Given the description of an element on the screen output the (x, y) to click on. 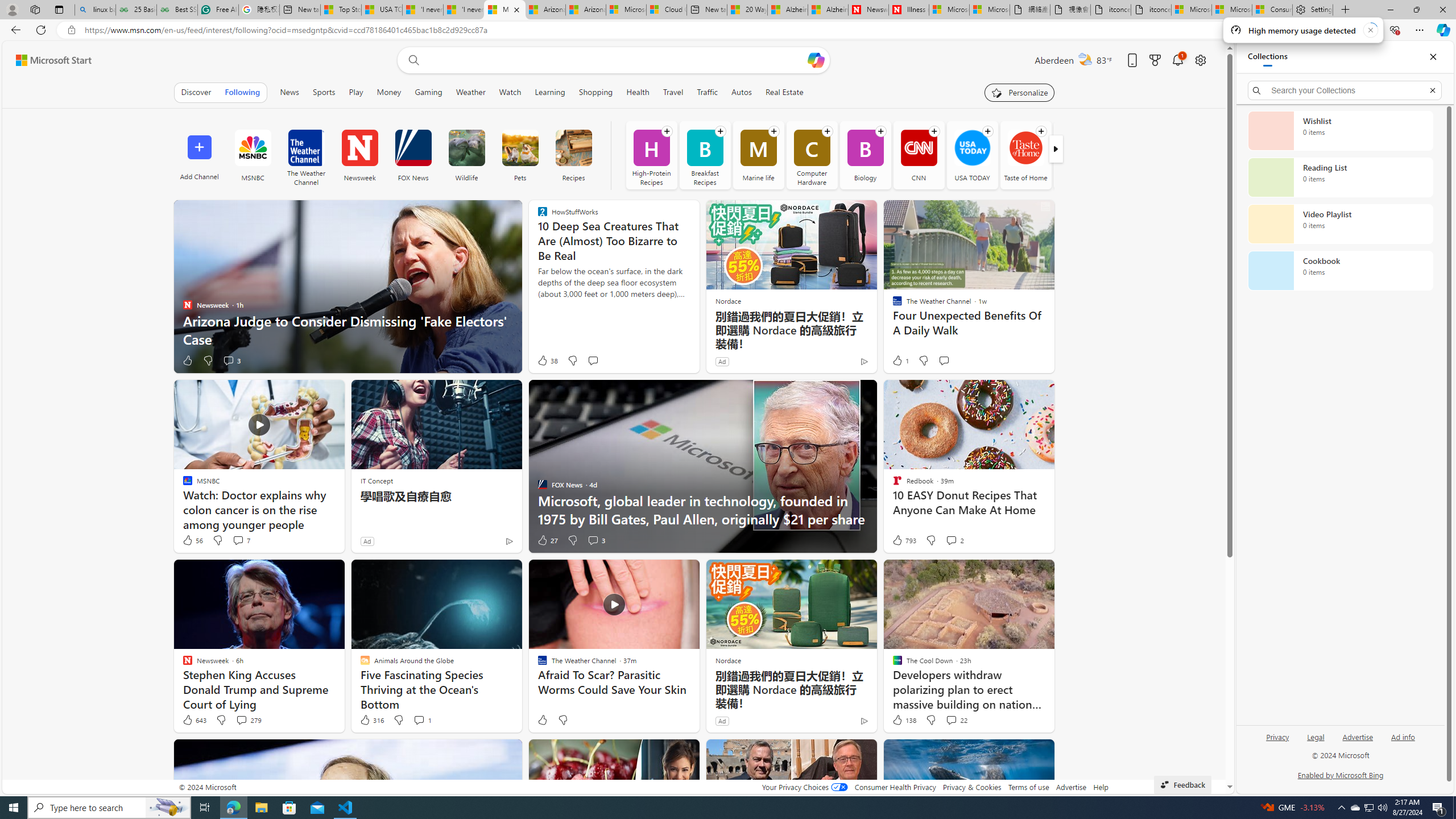
Travel (672, 92)
View comments 2 Comment (954, 539)
Privacy & Cookies (971, 786)
USA TODAY (971, 147)
